Given the description of an element on the screen output the (x, y) to click on. 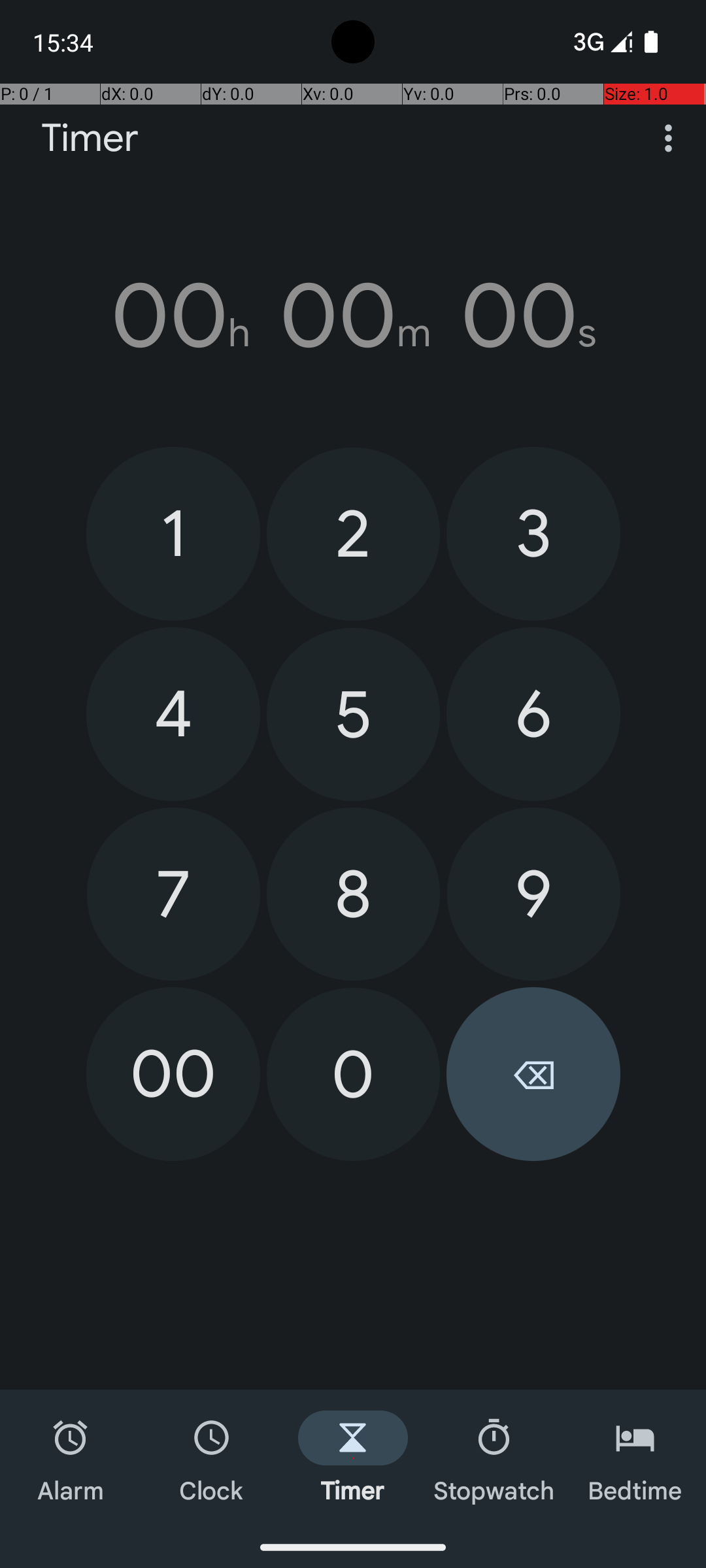
00h 00m 00s Element type: android.widget.TextView (353, 315)
